Given the description of an element on the screen output the (x, y) to click on. 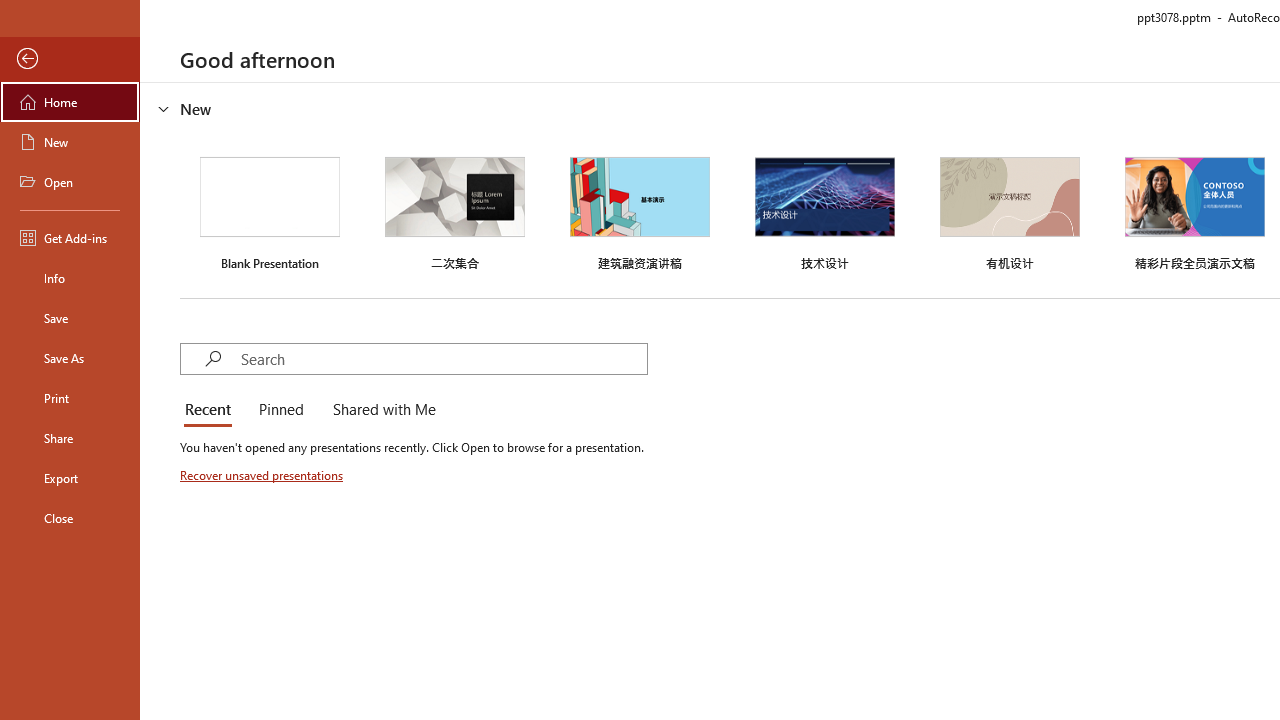
Info (69, 277)
Pinned (280, 410)
Back (69, 59)
New (69, 141)
Hide or show region (164, 108)
Recent (212, 410)
Blank Presentation (269, 211)
